Given the description of an element on the screen output the (x, y) to click on. 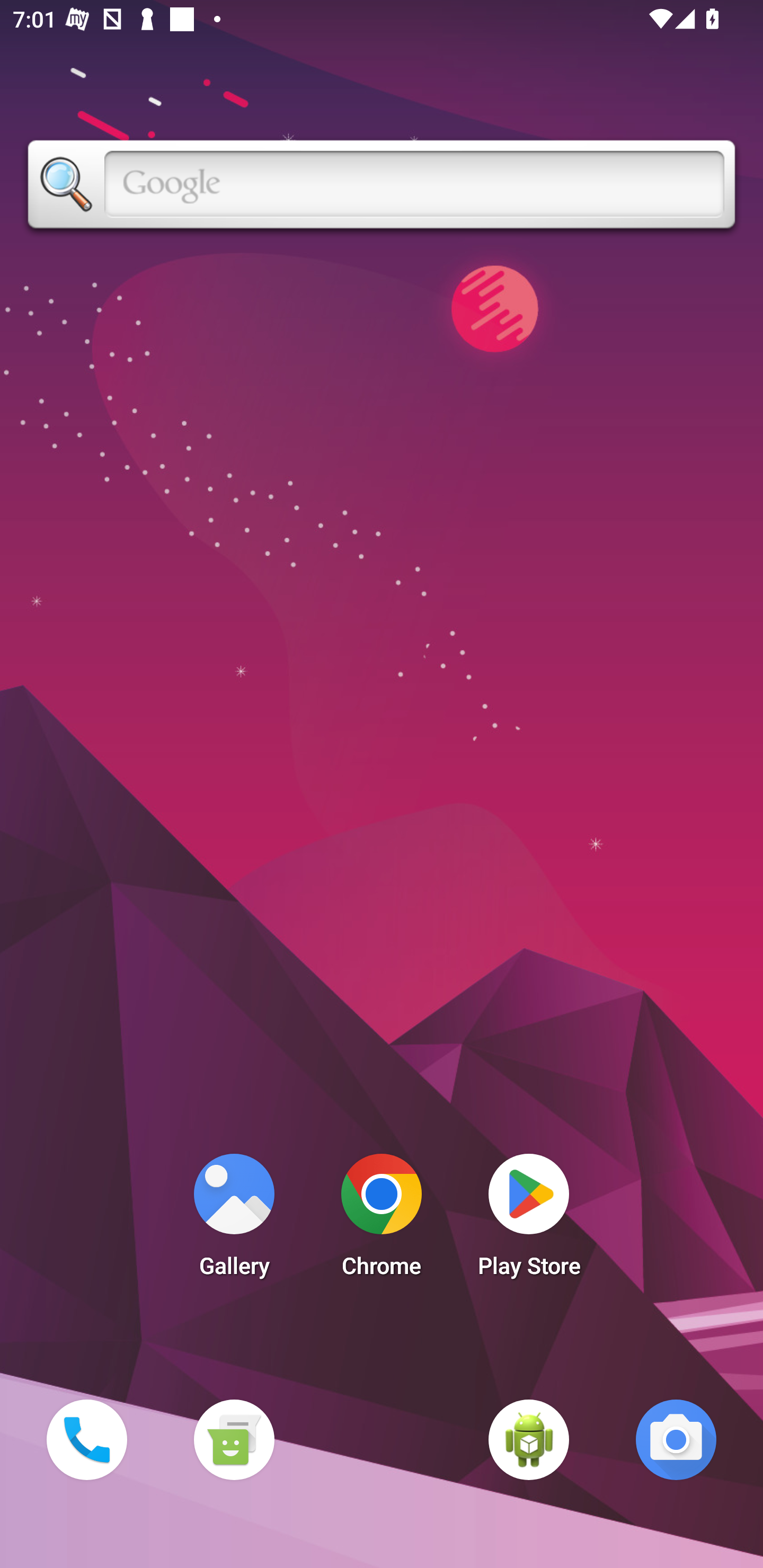
Gallery (233, 1220)
Chrome (381, 1220)
Play Store (528, 1220)
Phone (86, 1439)
Messaging (233, 1439)
WebView Browser Tester (528, 1439)
Camera (676, 1439)
